Given the description of an element on the screen output the (x, y) to click on. 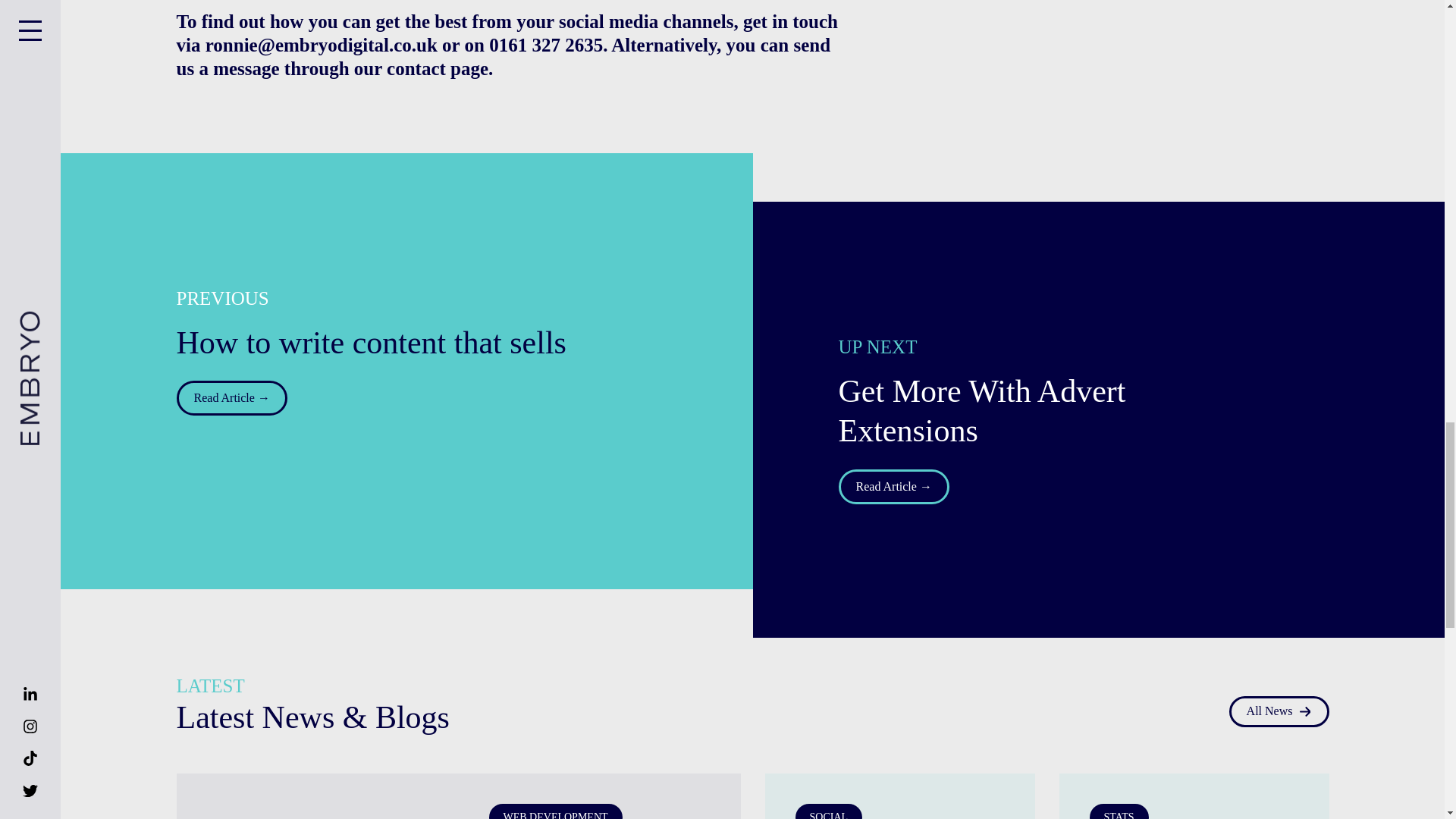
How to write content that sells (372, 342)
All News (1278, 711)
STATS (1118, 811)
WEB DEVELOPMENT (554, 811)
Get More With Advert Extensions (1034, 411)
SOCIAL (827, 811)
contact (418, 68)
